Given the description of an element on the screen output the (x, y) to click on. 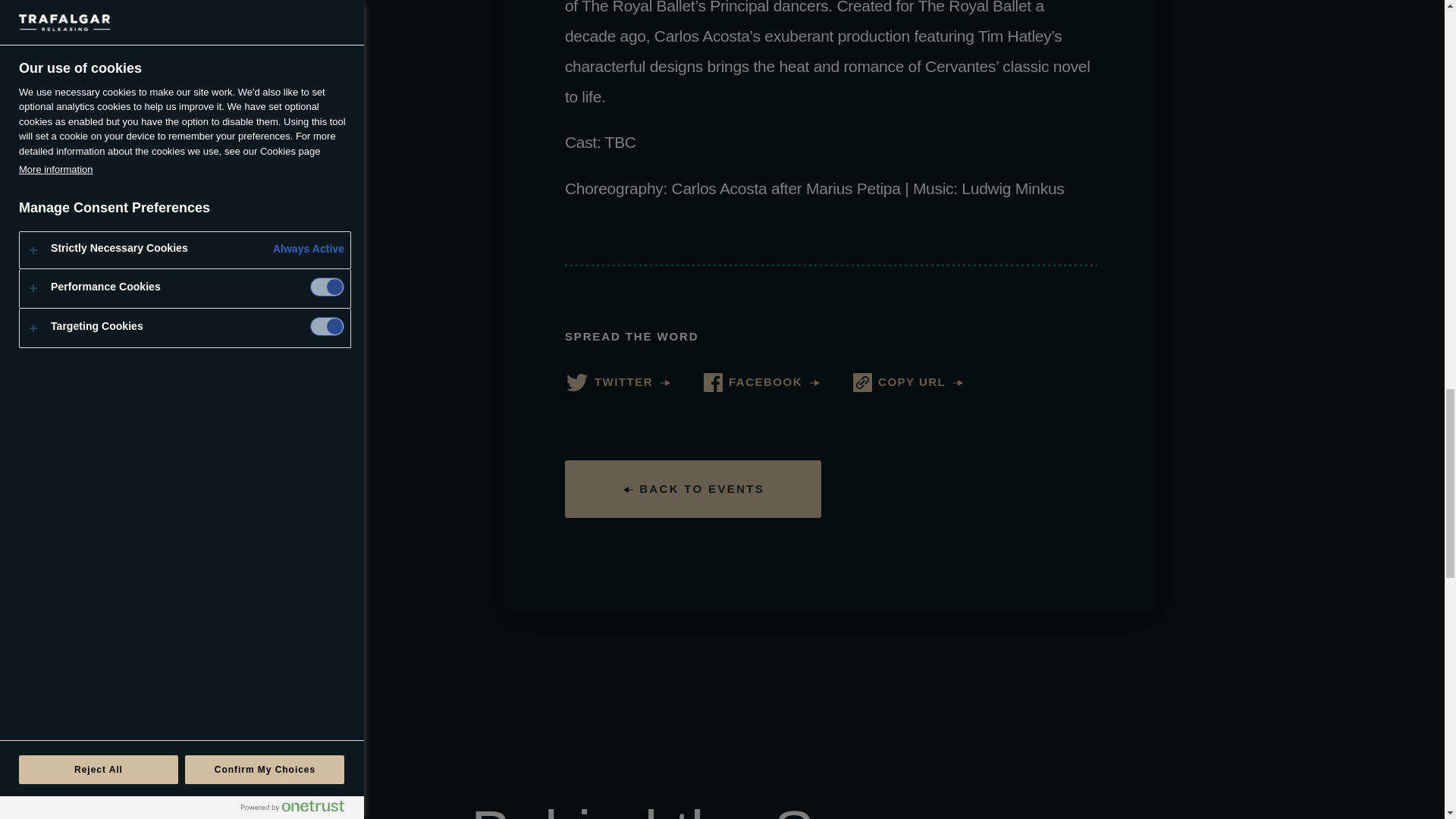
Share on Facebook (761, 382)
TWITTER (617, 382)
BACK TO EVENTS (692, 488)
Share on Twitter (617, 382)
FACEBOOK (761, 382)
COPY URL (907, 382)
